Given the description of an element on the screen output the (x, y) to click on. 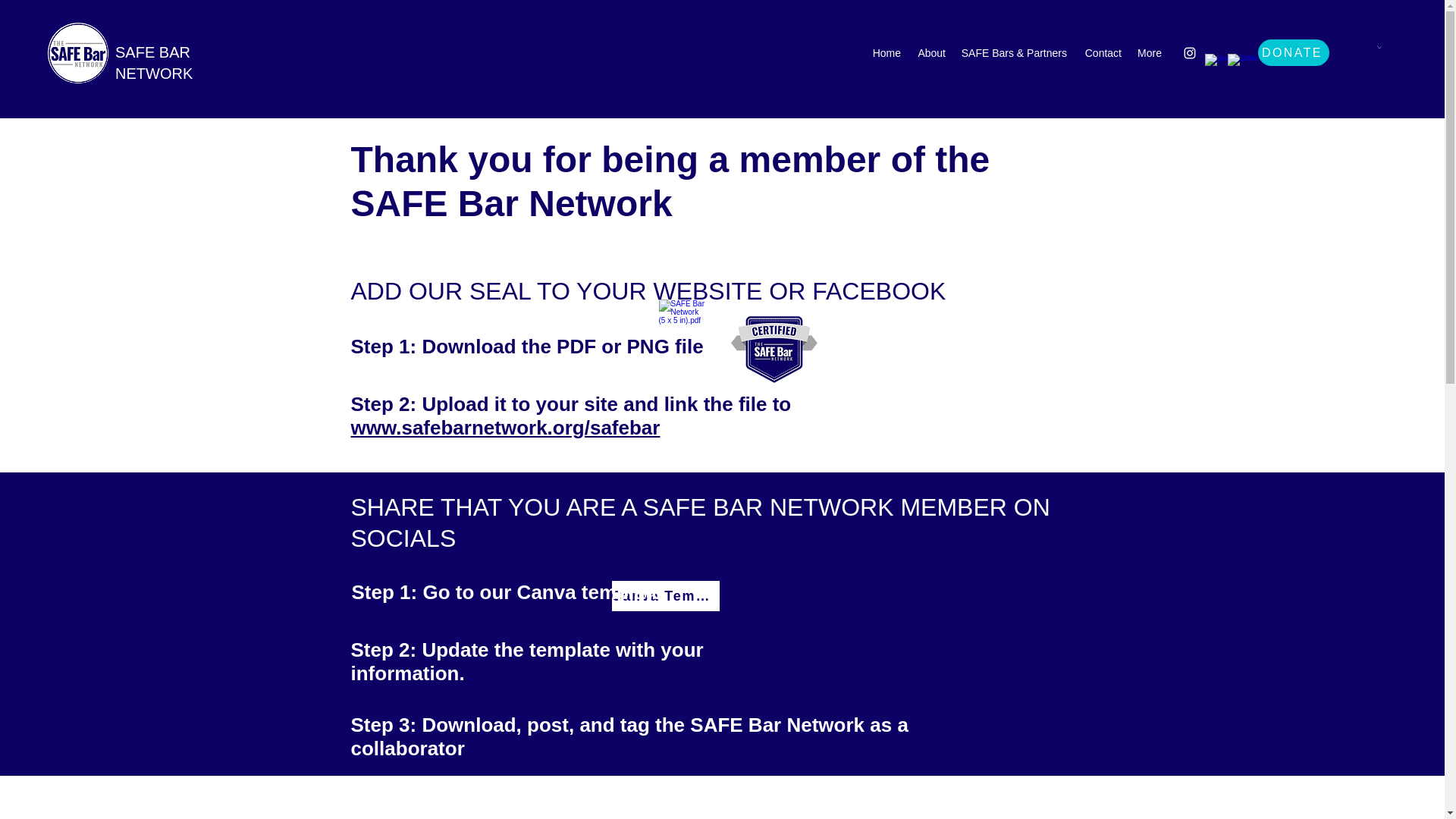
DONATE (1293, 52)
Home (885, 52)
About (930, 52)
Canva Template (665, 595)
Contact (1101, 52)
SAFE BAR NETWORK (153, 62)
